Given the description of an element on the screen output the (x, y) to click on. 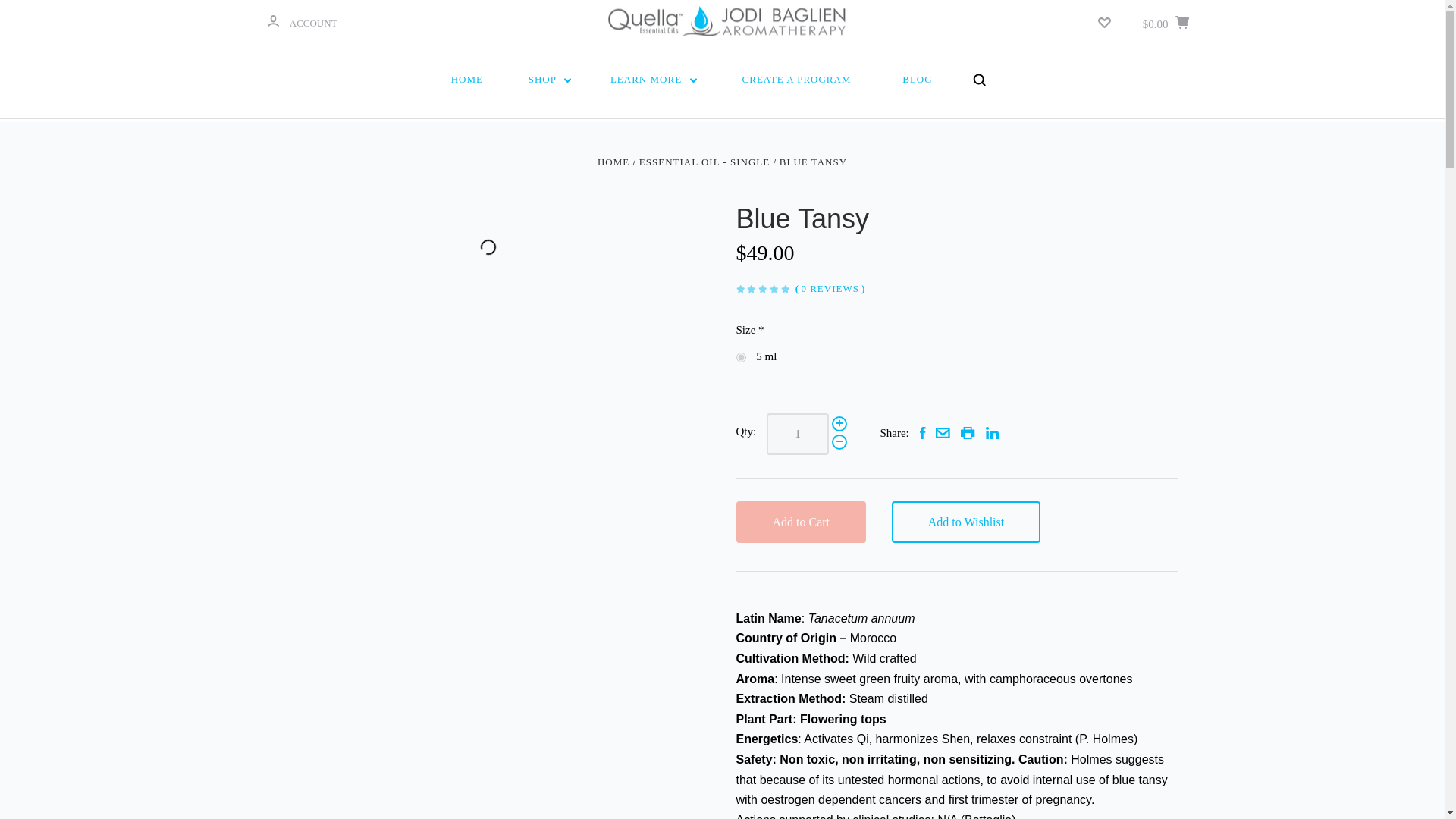
HOME (466, 78)
printer (967, 432)
1 (797, 434)
BLUE TANSY (812, 161)
ACCOUNT (272, 20)
cart (1181, 21)
BLOG (916, 78)
email (943, 432)
0 REVIEWS (829, 288)
ACCOUNT ACCOUNT (301, 21)
